Given the description of an element on the screen output the (x, y) to click on. 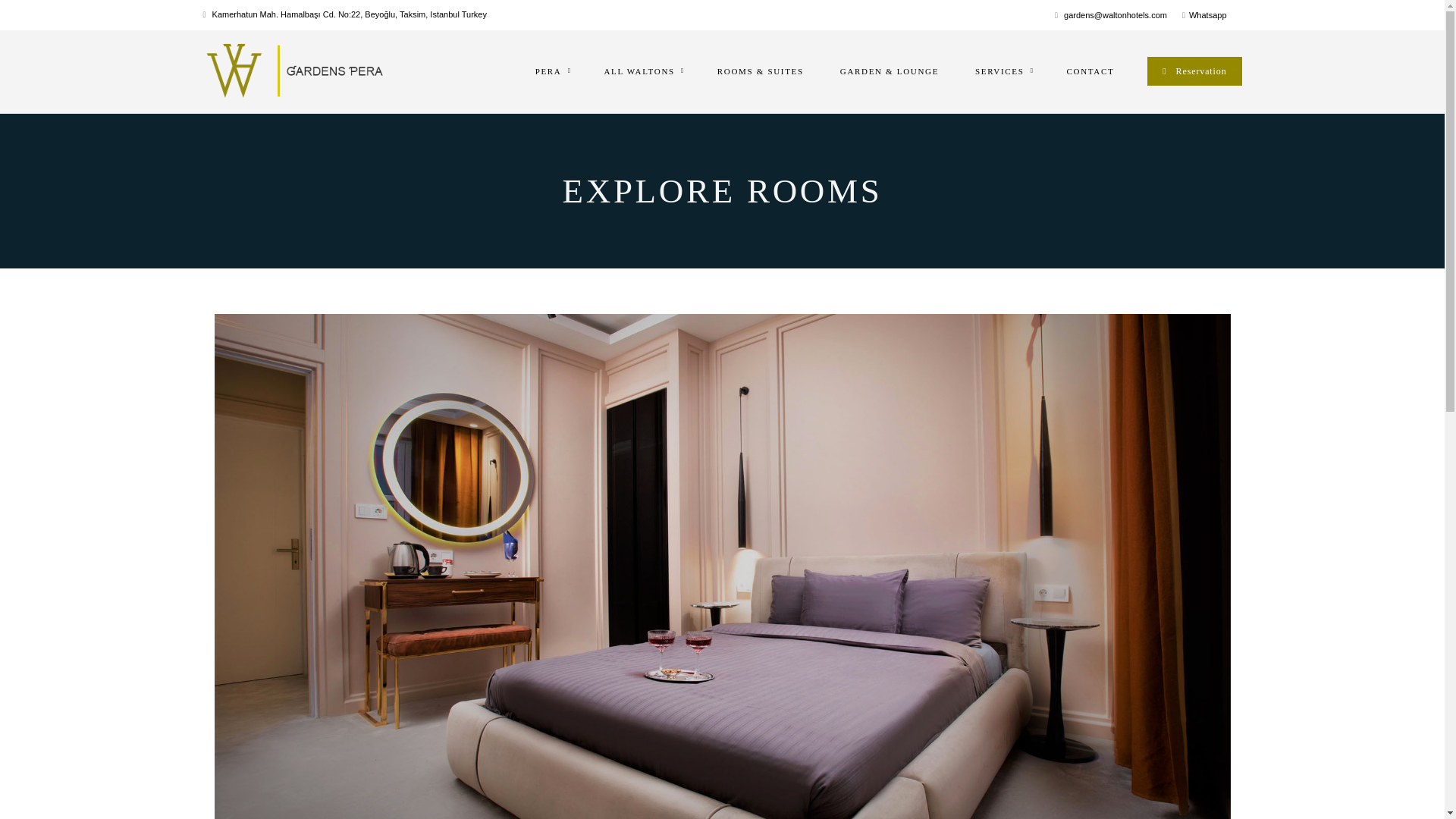
SERVICES (1002, 71)
Whatsapp (1208, 14)
ALL WALTONS (641, 71)
Reservation (1194, 70)
CONTACT (1090, 71)
